Given the description of an element on the screen output the (x, y) to click on. 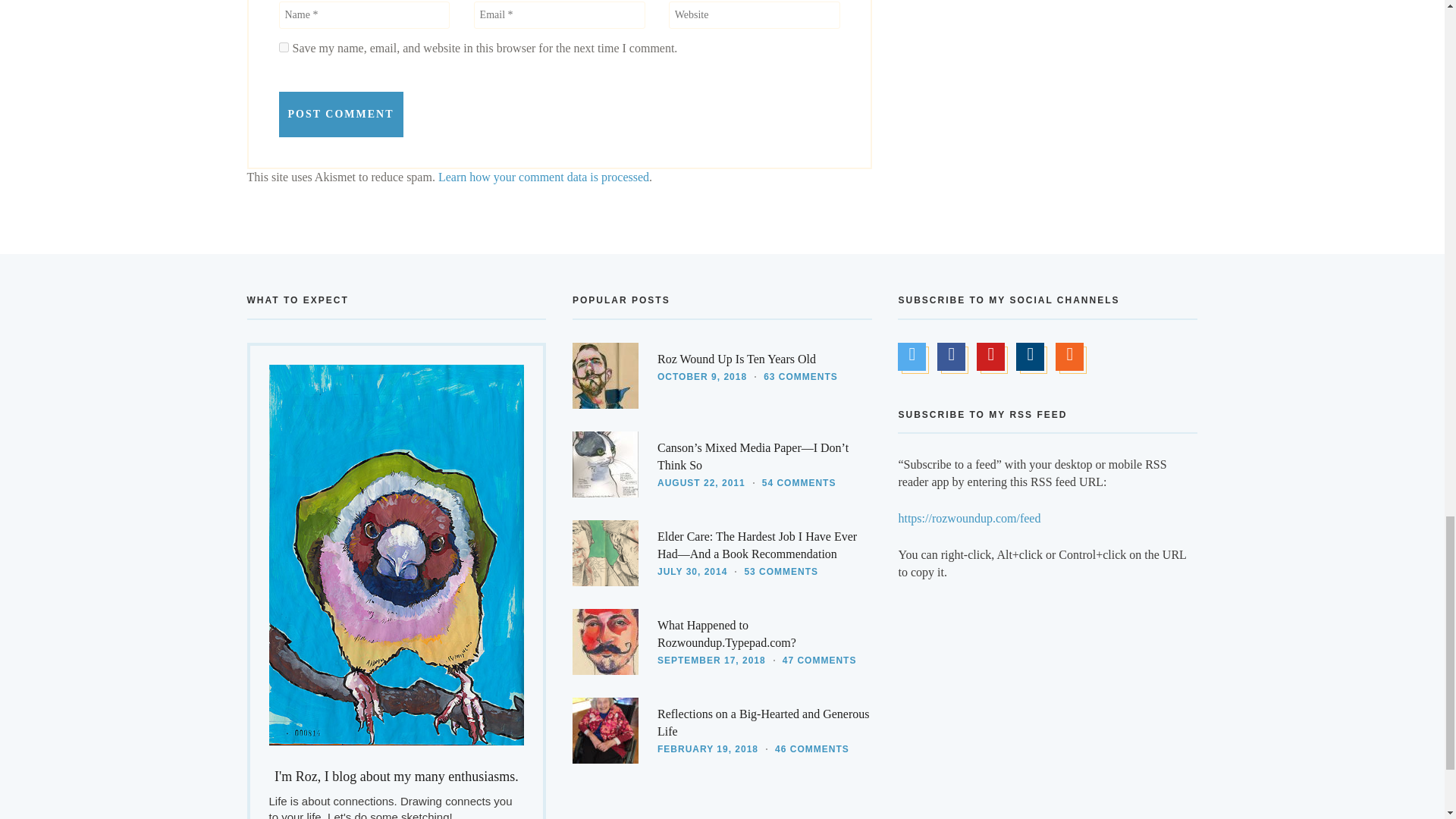
yes (283, 47)
Post Comment (341, 114)
